Given the description of an element on the screen output the (x, y) to click on. 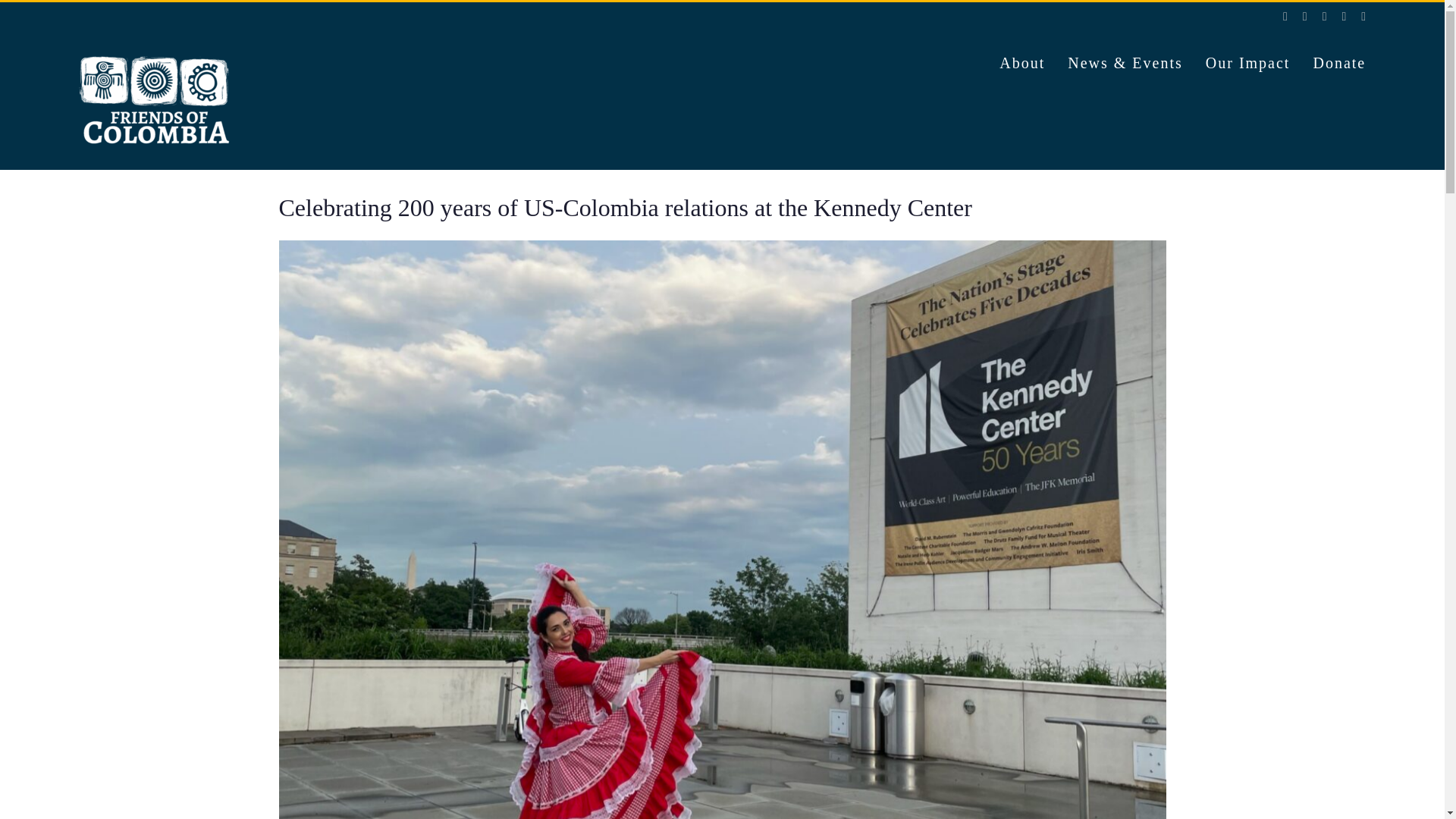
Our Impact (1247, 63)
